Given the description of an element on the screen output the (x, y) to click on. 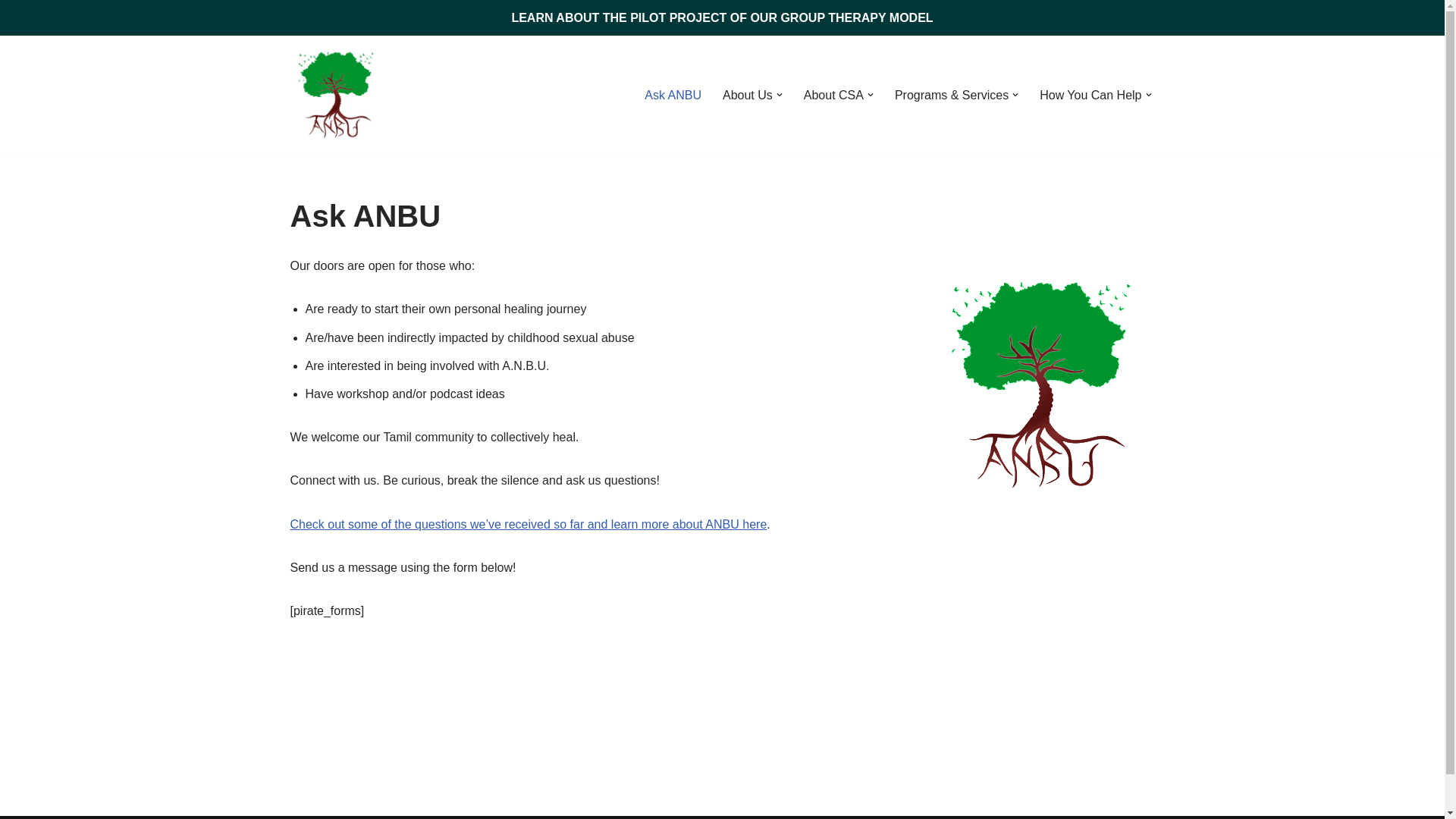
Skip to content Element type: text (11, 67)
Programs & Services Element type: text (951, 94)
LEARN ABOUT THE PILOT PROJECT OF OUR GROUP THERAPY MODEL Element type: text (721, 17)
About CSA Element type: text (833, 94)
About Us Element type: text (747, 94)
How You Can Help Element type: text (1090, 94)
Ask ANBU Element type: text (672, 94)
